Given the description of an element on the screen output the (x, y) to click on. 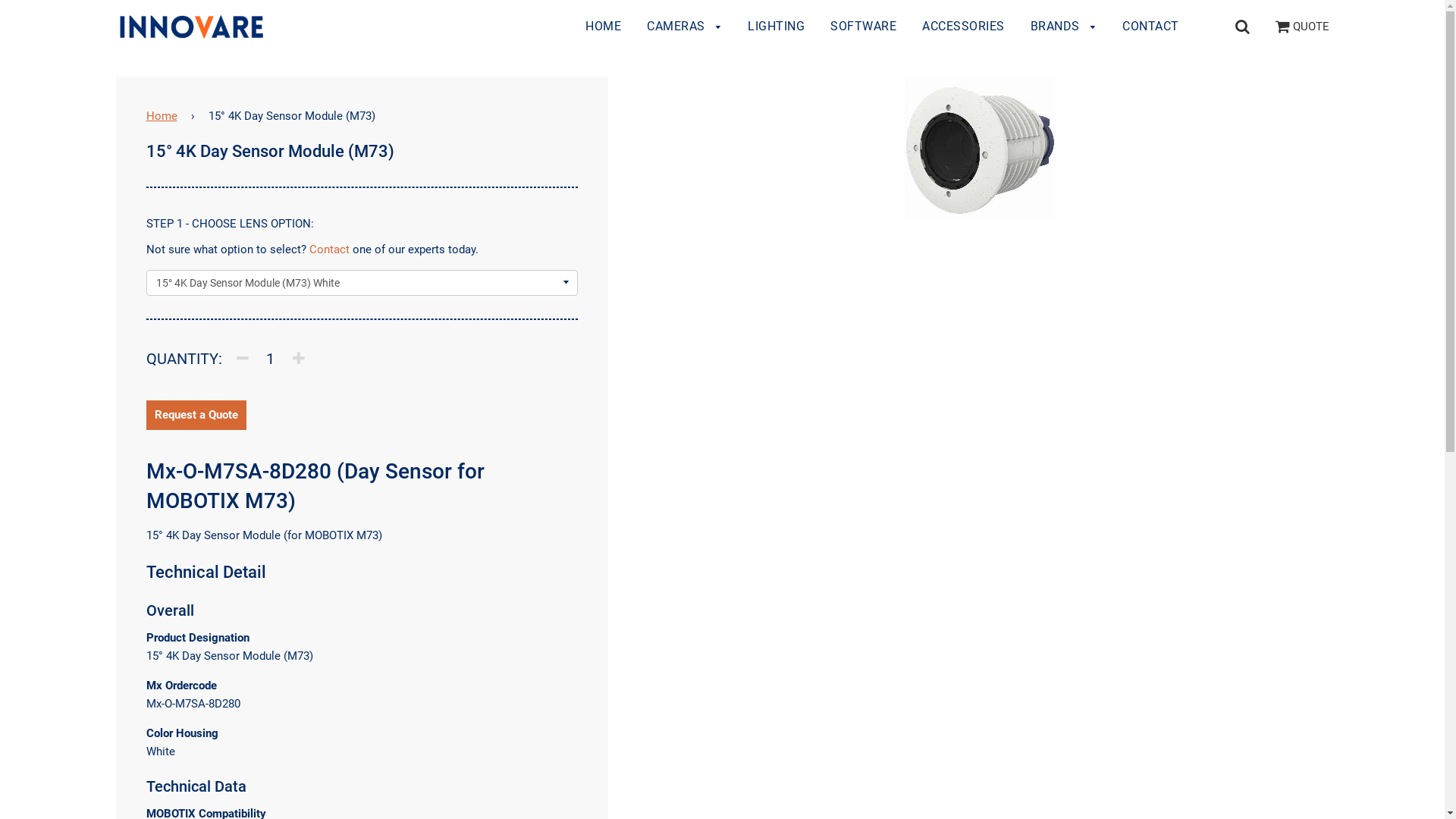
CAMERAS Element type: text (684, 26)
CONTACT Element type: text (1144, 26)
BRANDS Element type: text (1063, 26)
ACCESSORIES Element type: text (963, 26)
+ Element type: text (298, 357)
Home Element type: text (164, 115)
Contact Element type: text (329, 249)
QUOTE Element type: text (1302, 26)
LIGHTING Element type: text (775, 26)
Request a Quote Element type: text (196, 414)
SOFTWARE Element type: text (863, 26)
HOME Element type: text (603, 26)
